Given the description of an element on the screen output the (x, y) to click on. 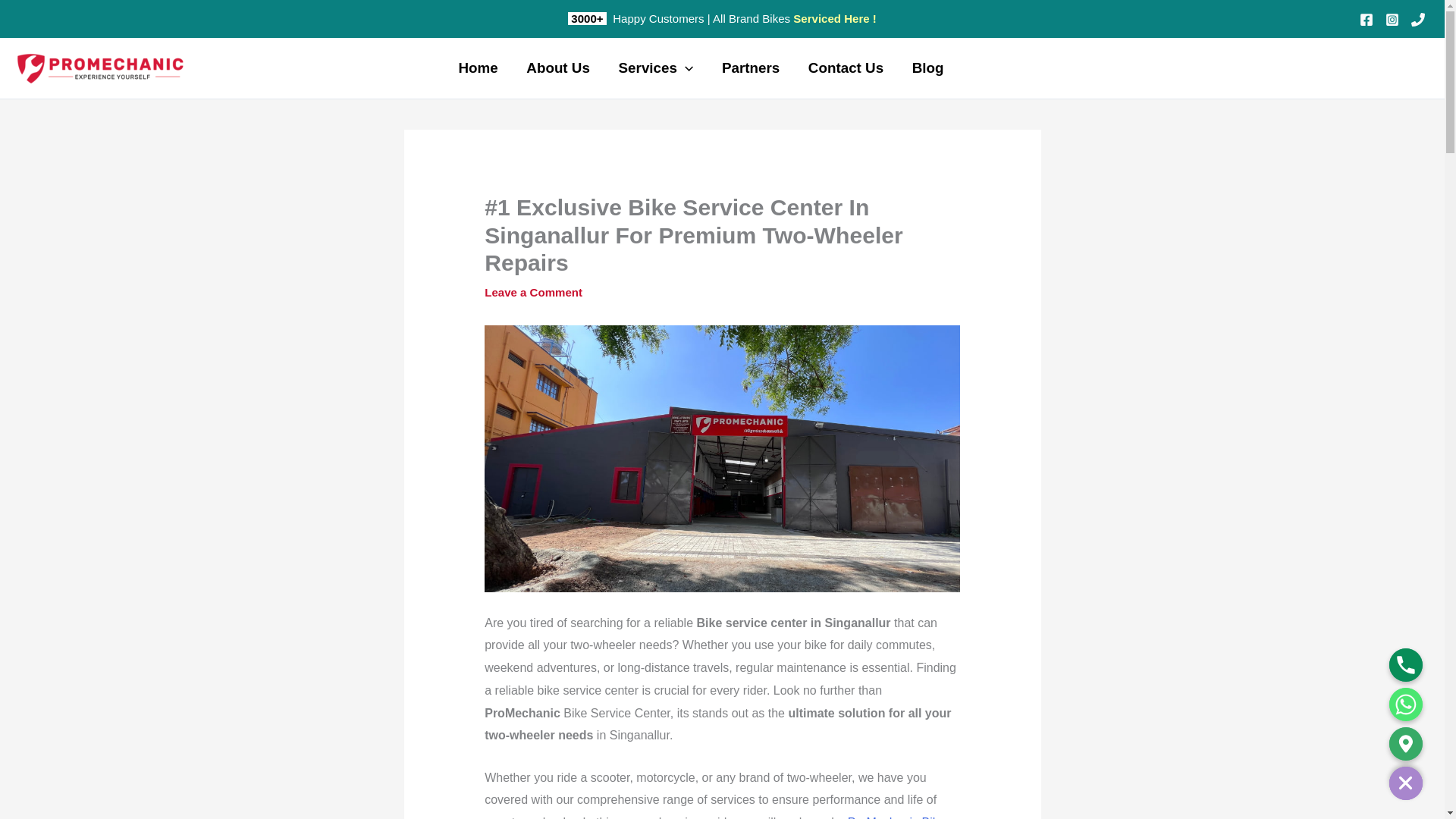
Services (655, 67)
Blog (928, 67)
About Us (558, 67)
Home (478, 67)
Contact Us (845, 67)
Partners (750, 67)
